Given the description of an element on the screen output the (x, y) to click on. 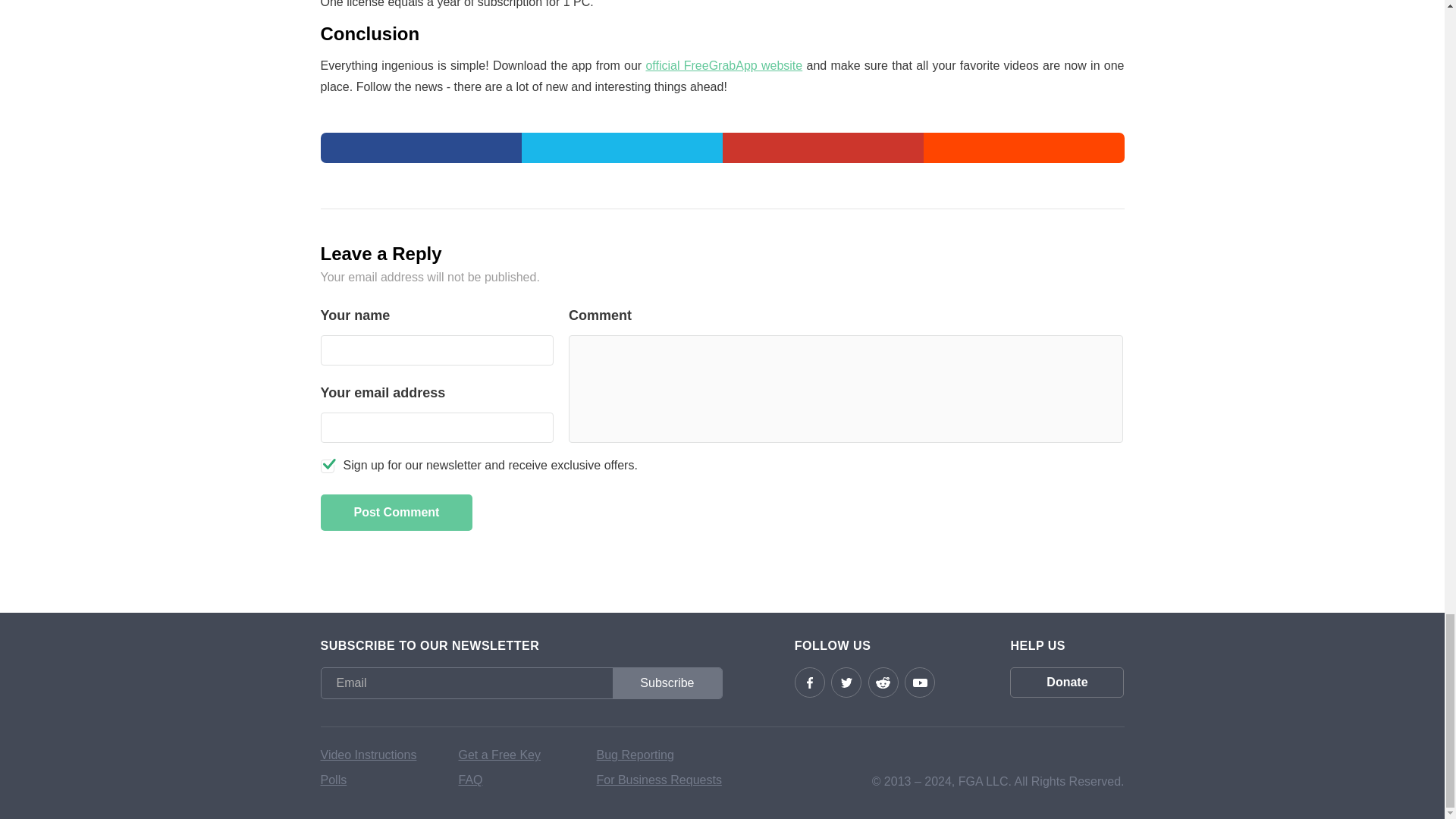
Subscribe (666, 683)
Save on Pinterest (822, 147)
Post Comment (395, 512)
1 (326, 466)
Share on Reddit (1023, 147)
Share on Facebook (420, 147)
Post on Twitter (621, 147)
